Given the description of an element on the screen output the (x, y) to click on. 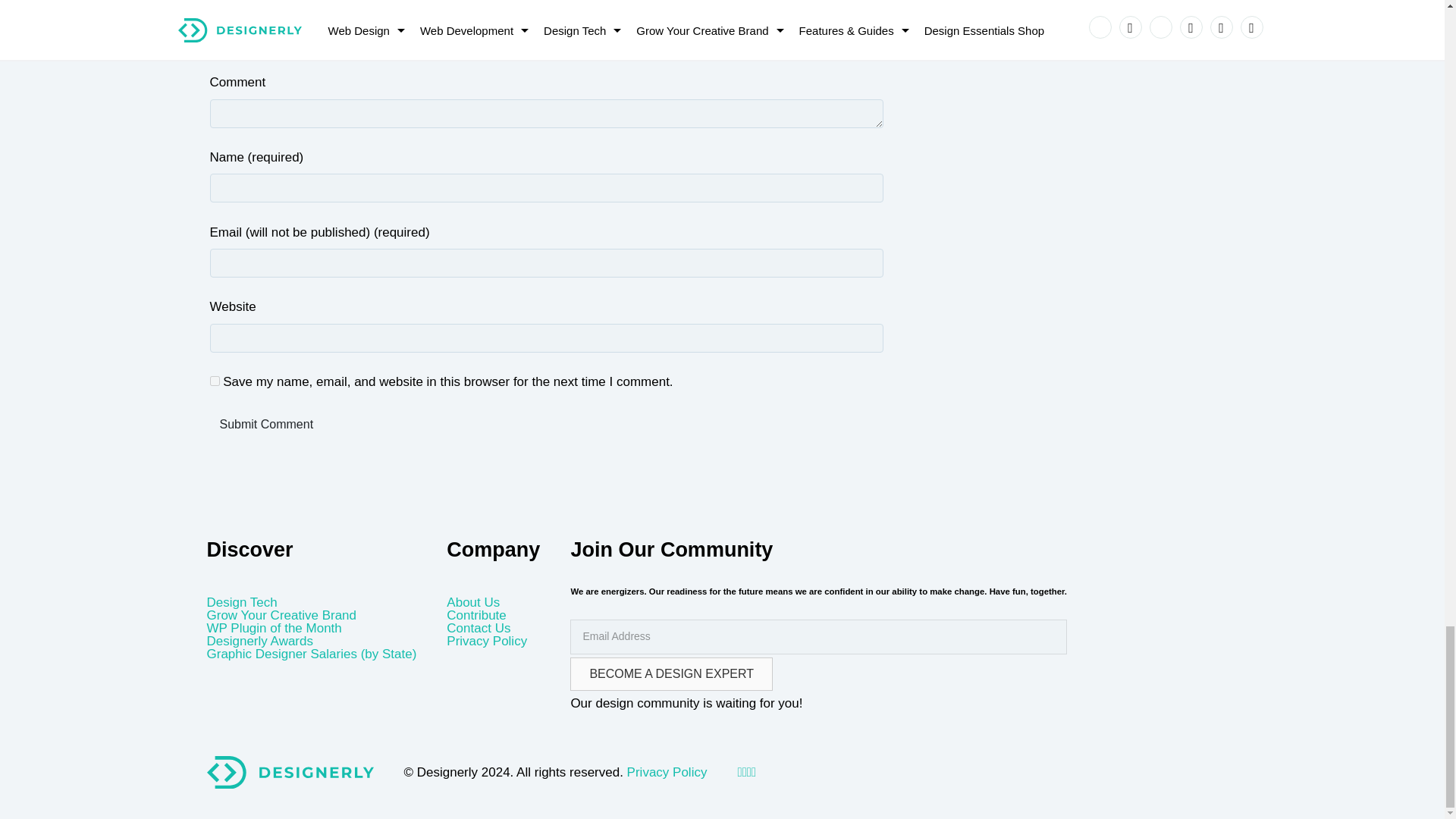
yes (214, 380)
Submit Comment (266, 424)
